Given the description of an element on the screen output the (x, y) to click on. 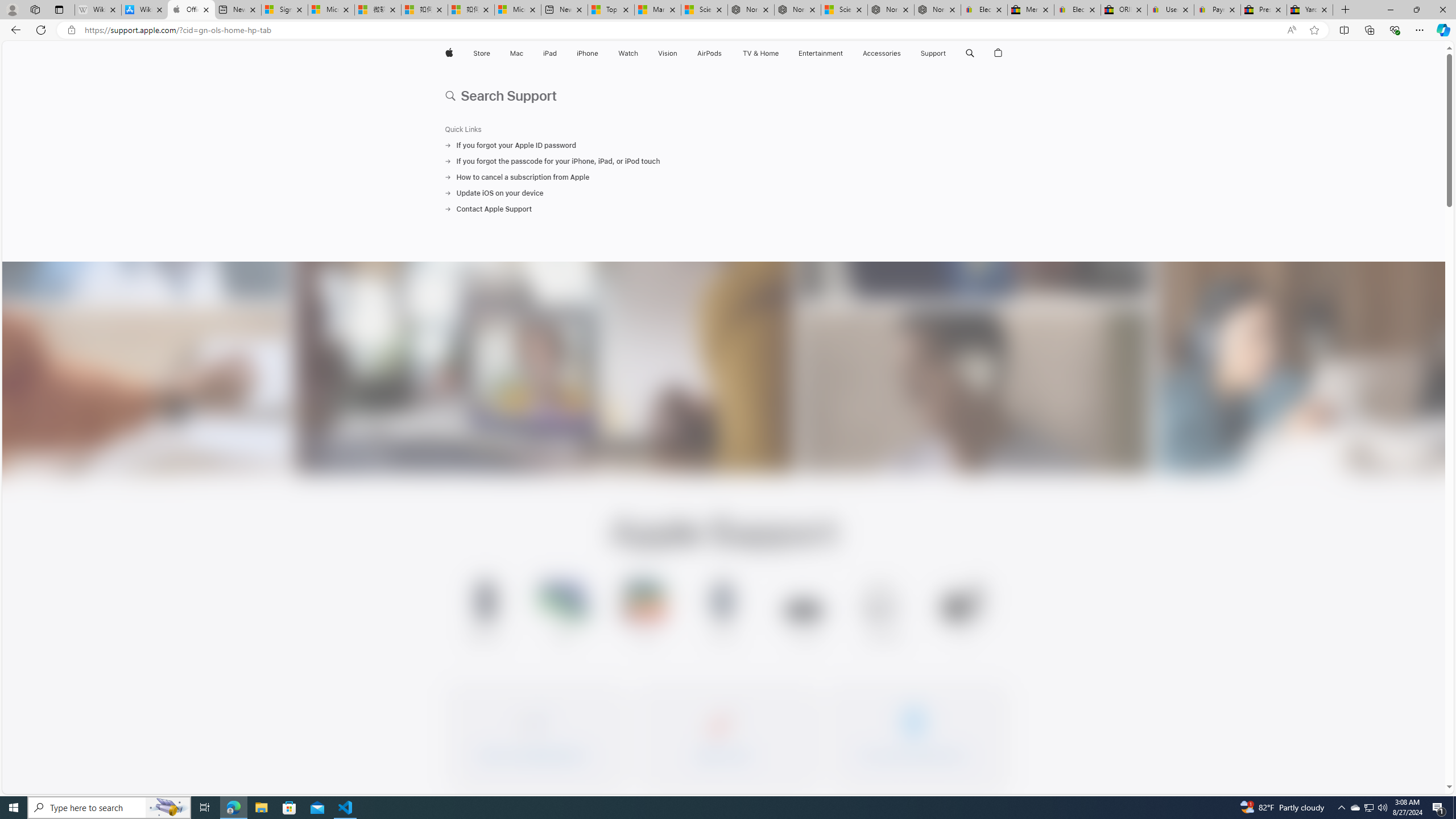
If you forgot your Apple ID password (723, 145)
Vision (667, 53)
Apple Vision Pro Support (802, 612)
Watch menu (640, 53)
iPhone menu (600, 53)
TV Support (962, 612)
Class: globalnav-submenu-trigger-item (948, 53)
Store (481, 53)
Entertainment menu (844, 53)
Apple Repair (723, 734)
Forgot Apple ID password (532, 734)
